Given the description of an element on the screen output the (x, y) to click on. 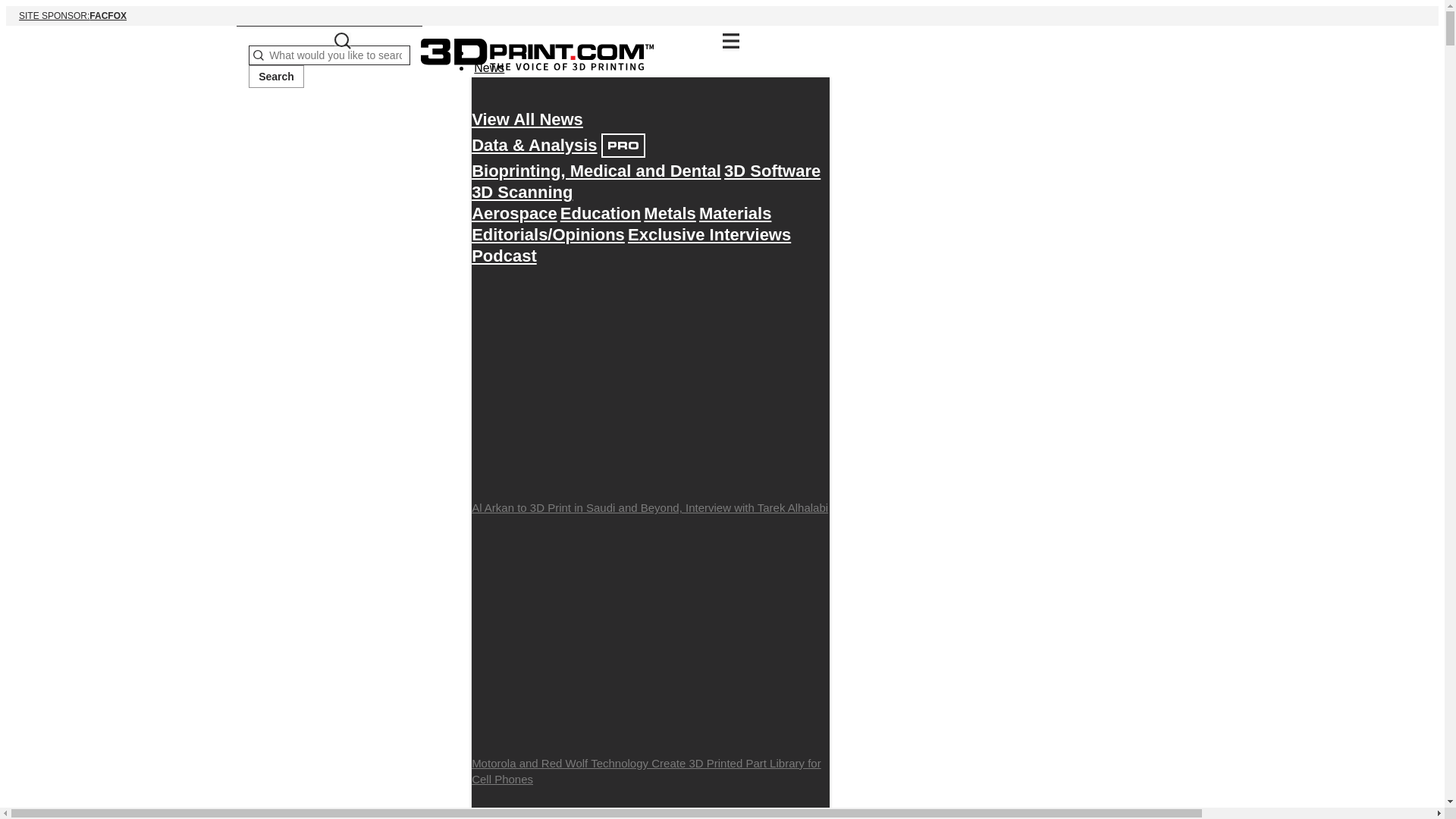
Metals (669, 213)
Materials (721, 15)
Podcast (734, 213)
Search (504, 255)
3D Scanning (276, 76)
View All News (521, 191)
Bioprinting, Medical and Dental (527, 119)
Education (595, 170)
News (600, 213)
Aerospace (488, 67)
3D Software (514, 213)
Exclusive Interviews (772, 170)
